Given the description of an element on the screen output the (x, y) to click on. 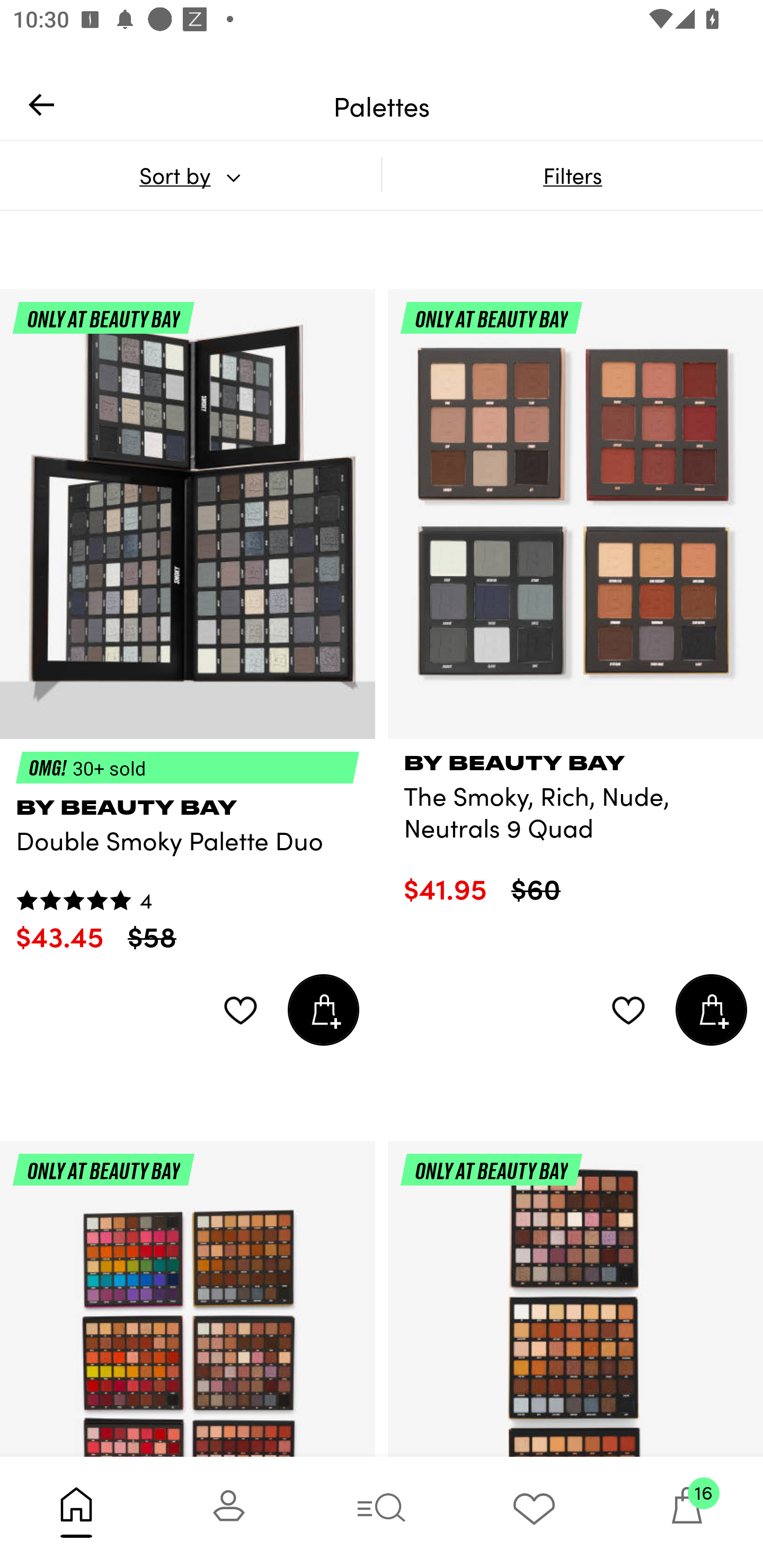
Sort by (190, 174)
Filters (572, 174)
16 (686, 1512)
